Given the description of an element on the screen output the (x, y) to click on. 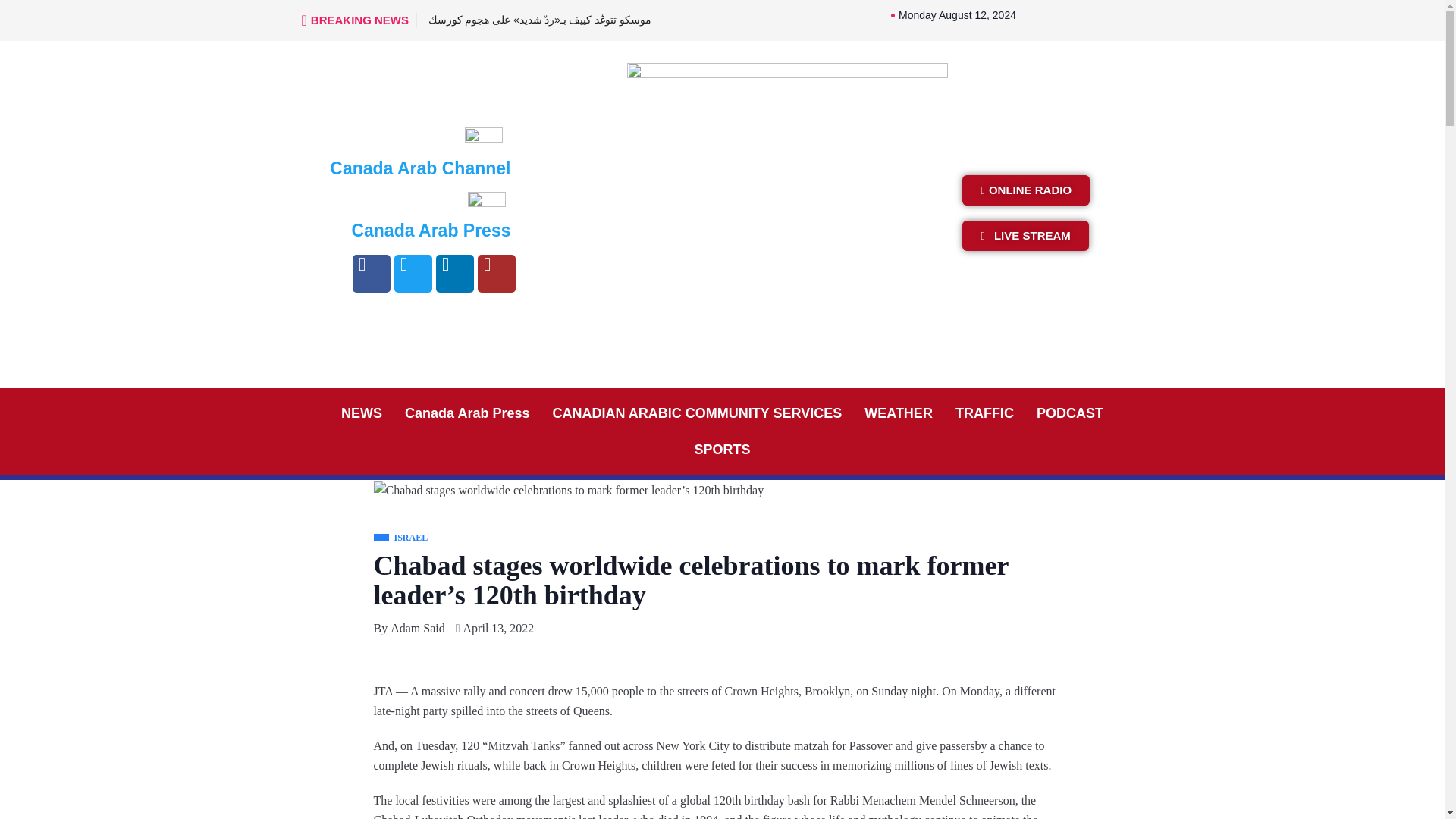
CANADIAN ARABIC COMMUNITY SERVICES (697, 412)
WEATHER (898, 412)
ONLINE RADIO (1025, 189)
PODCAST (1070, 412)
LIVE STREAM (1024, 235)
NEWS (361, 412)
SPORTS (721, 449)
Canada Arab Press (466, 412)
TRAFFIC (984, 412)
